Given the description of an element on the screen output the (x, y) to click on. 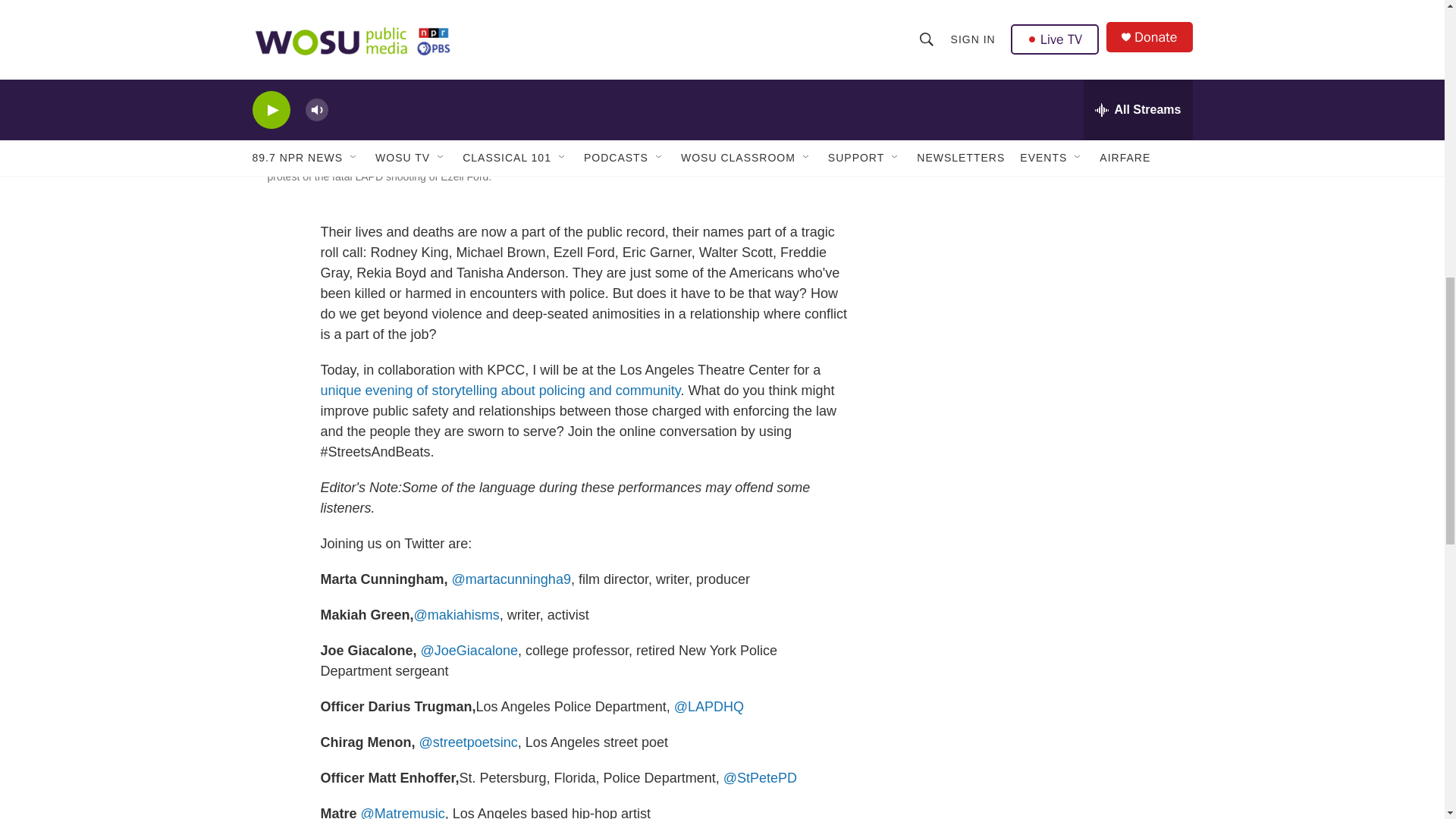
3rd party ad content (1062, 58)
